Given the description of an element on the screen output the (x, y) to click on. 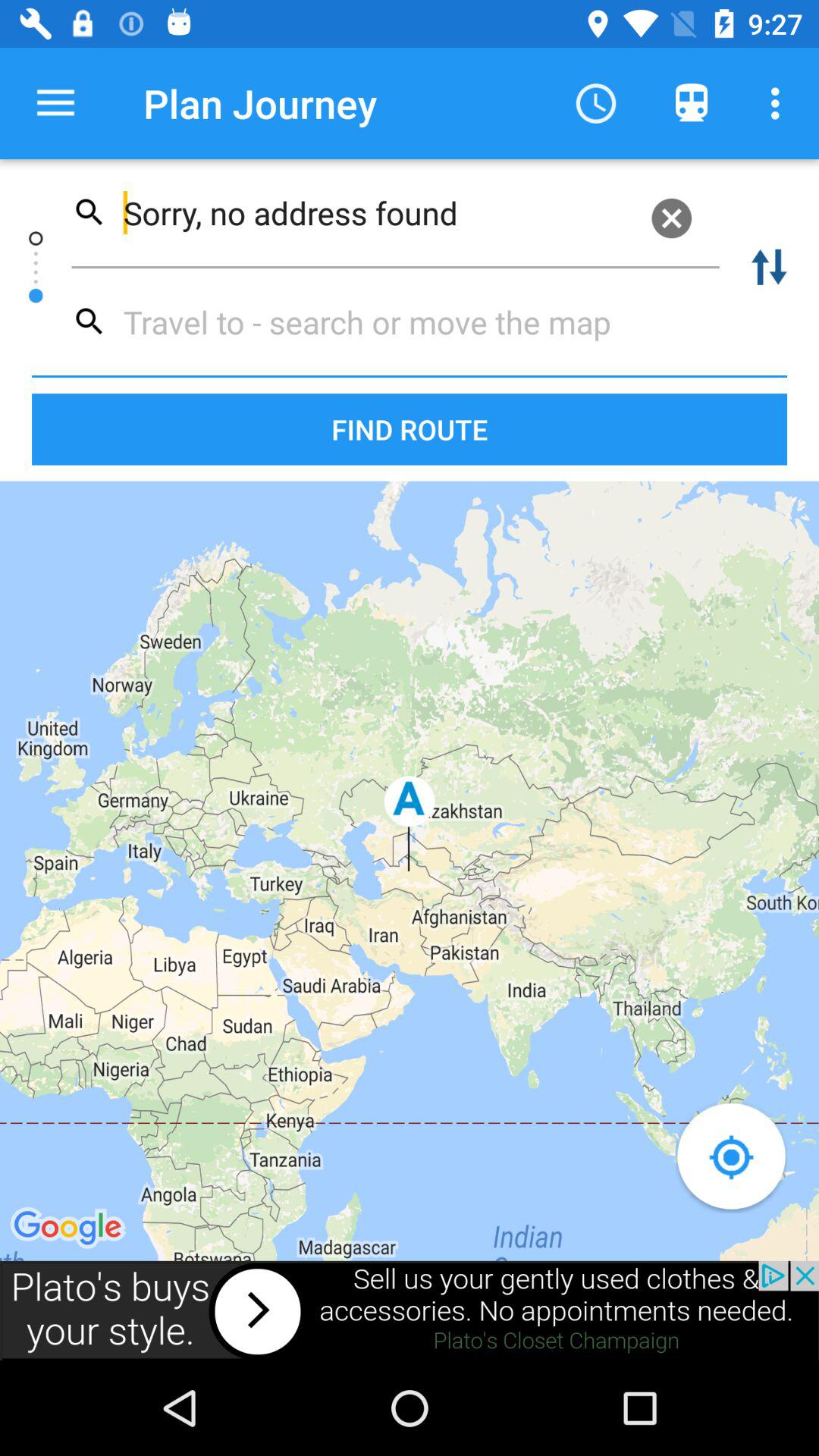
enter destination name (388, 321)
